Given the description of an element on the screen output the (x, y) to click on. 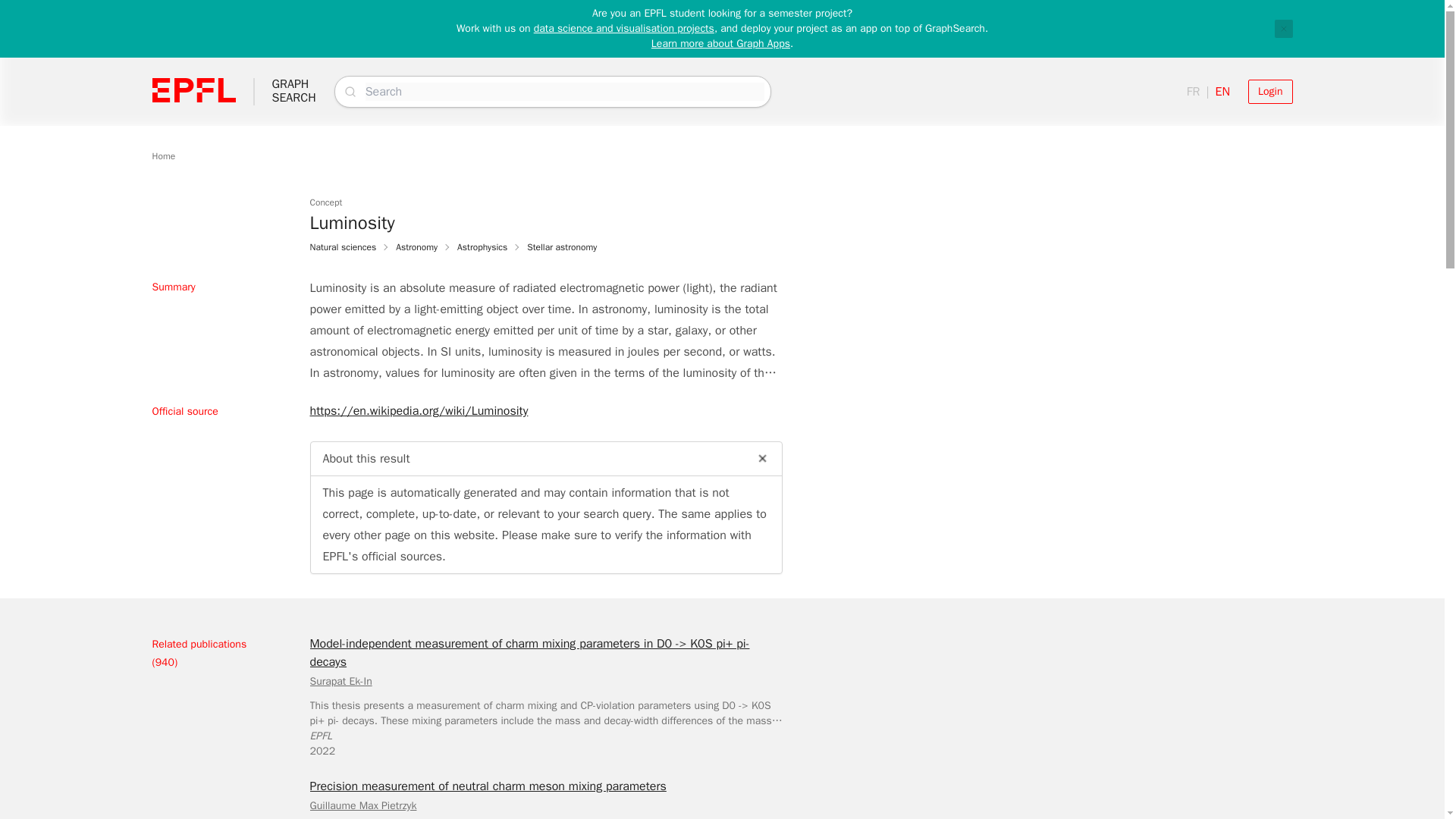
Astrophysics (481, 246)
Stellar astronomy (561, 246)
Home (162, 155)
data science and visualisation projects (624, 28)
Login (1269, 91)
Close notification (1283, 28)
Learn more about Graph Apps (720, 42)
Guillaume Max Pietrzyk (362, 805)
